Given the description of an element on the screen output the (x, y) to click on. 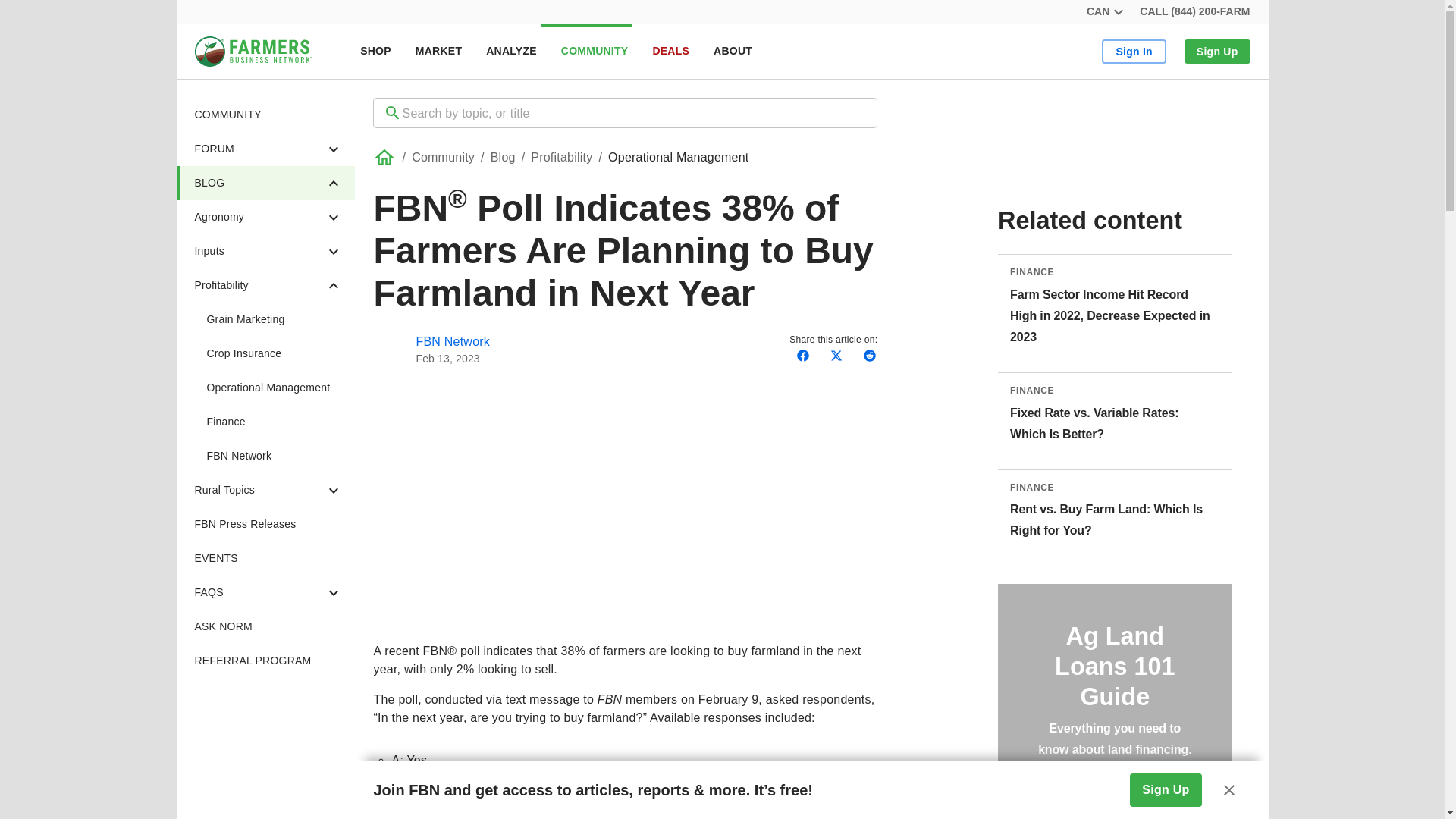
MARKET (438, 51)
CAN (1103, 12)
Farmer's Business Network's main logo (252, 62)
844-200-3276 (1194, 12)
BLOG (265, 182)
Rural Topics (265, 489)
ABOUT (732, 51)
Grain Marketing (265, 319)
Crop Insurance (265, 353)
SHOP (375, 51)
Operational Management (265, 387)
Farmer's Business Network's main logo (252, 51)
FORUM (265, 148)
Agronomy (696, 51)
